Given the description of an element on the screen output the (x, y) to click on. 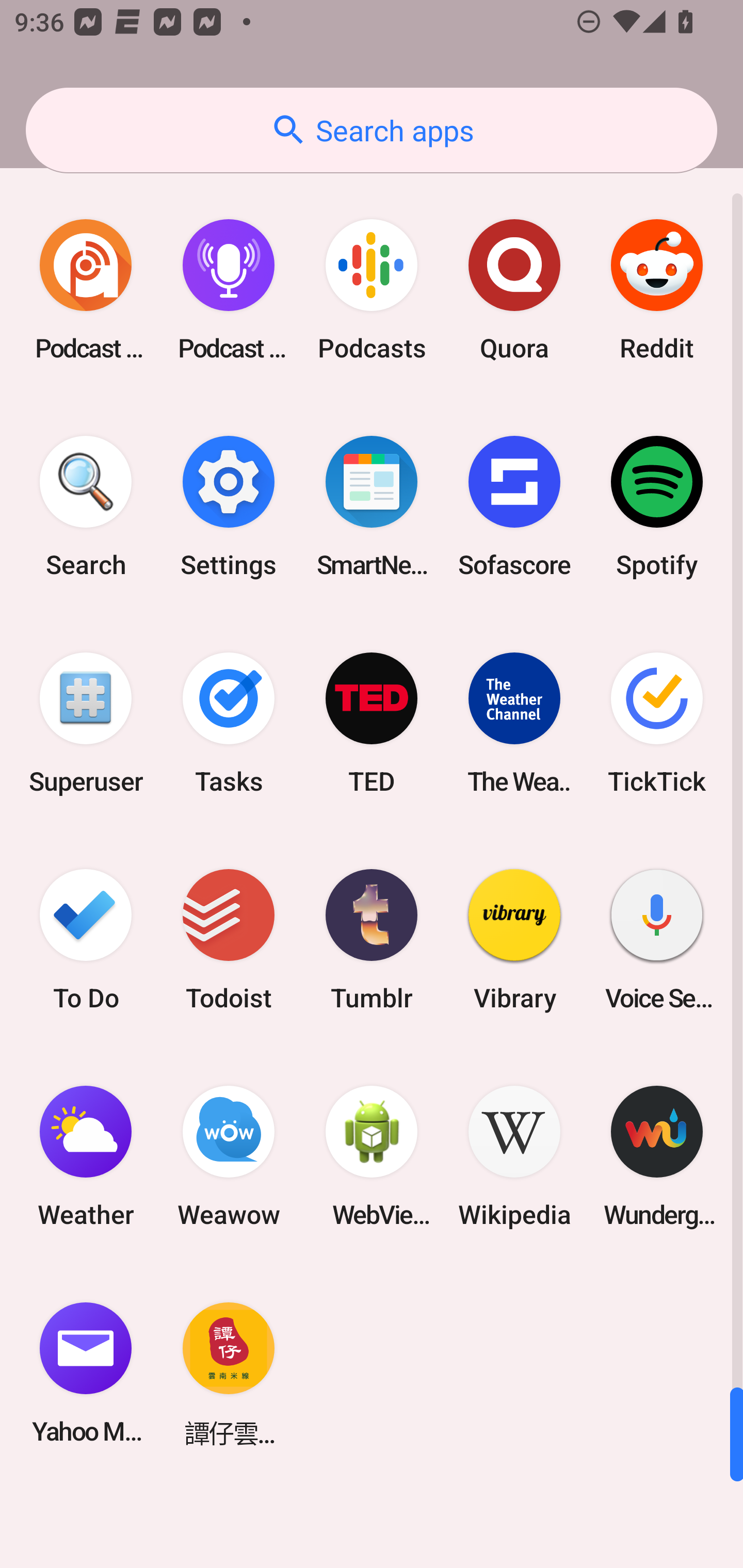
  Search apps (371, 130)
Podcast Addict (85, 289)
Podcast Player (228, 289)
Podcasts (371, 289)
Quora (514, 289)
Reddit (656, 289)
Search (85, 506)
Settings (228, 506)
SmartNews (371, 506)
Sofascore (514, 506)
Spotify (656, 506)
Superuser (85, 722)
Tasks (228, 722)
TED (371, 722)
The Weather Channel (514, 722)
TickTick (656, 722)
To Do (85, 939)
Todoist (228, 939)
Tumblr (371, 939)
Vibrary (514, 939)
Voice Search (656, 939)
Weather (85, 1156)
Weawow (228, 1156)
WebView Browser Tester (371, 1156)
Wikipedia (514, 1156)
Wunderground (656, 1156)
Yahoo Mail (85, 1373)
譚仔雲南米線 (228, 1373)
